Given the description of an element on the screen output the (x, y) to click on. 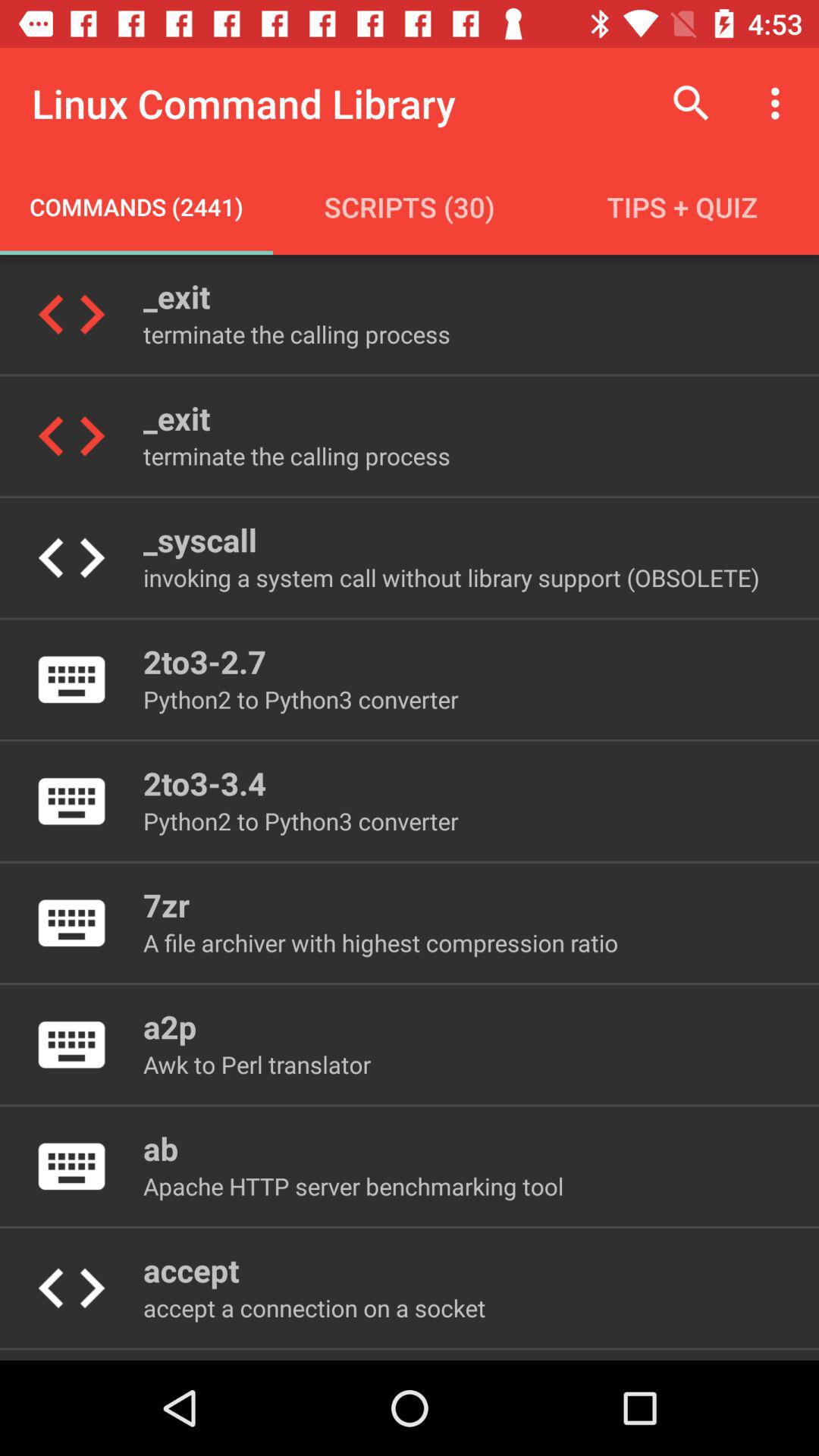
turn off the item below a2p (256, 1064)
